Given the description of an element on the screen output the (x, y) to click on. 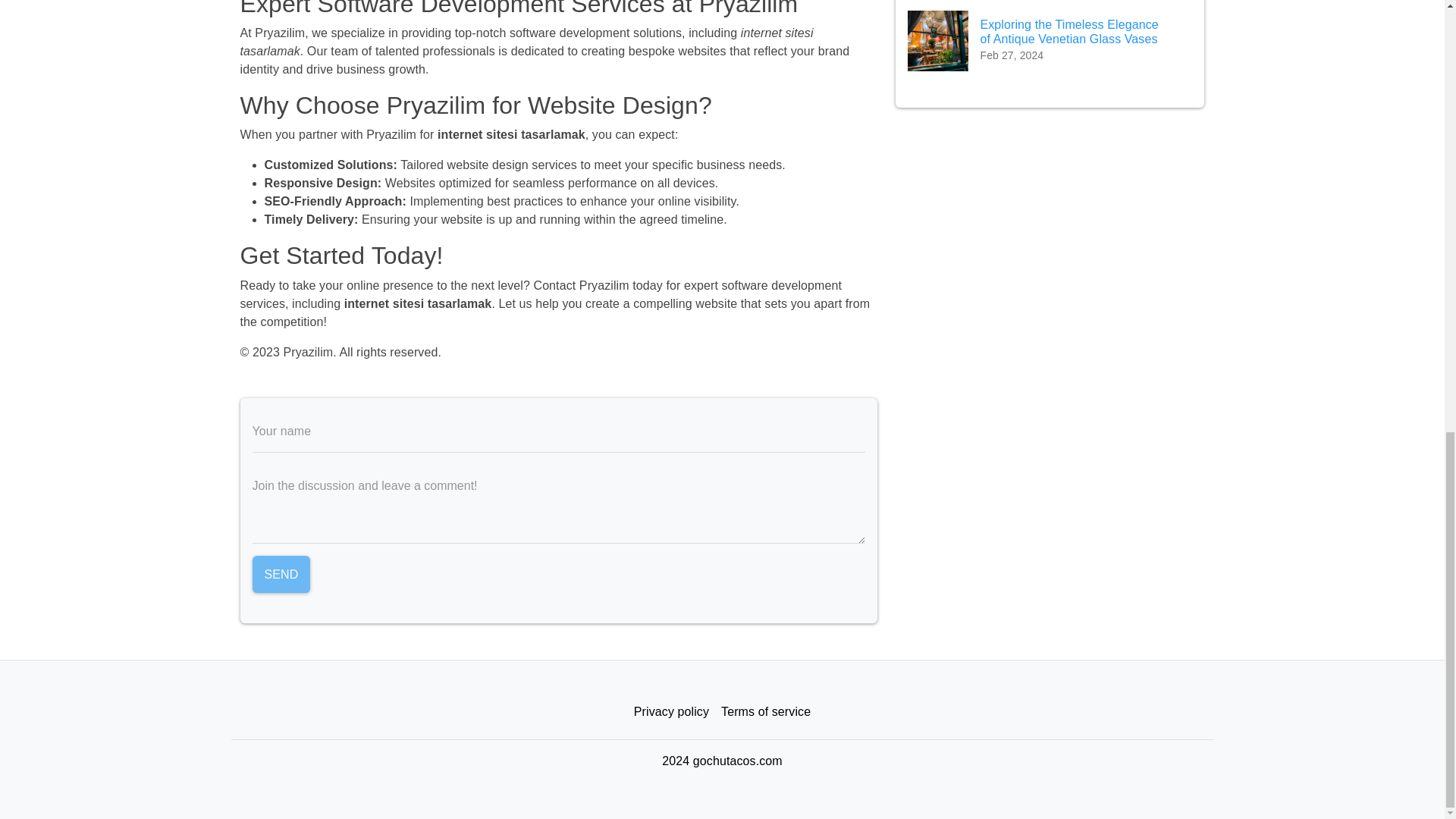
Send (280, 574)
Terms of service (765, 711)
Send (280, 574)
Privacy policy (670, 711)
